Given the description of an element on the screen output the (x, y) to click on. 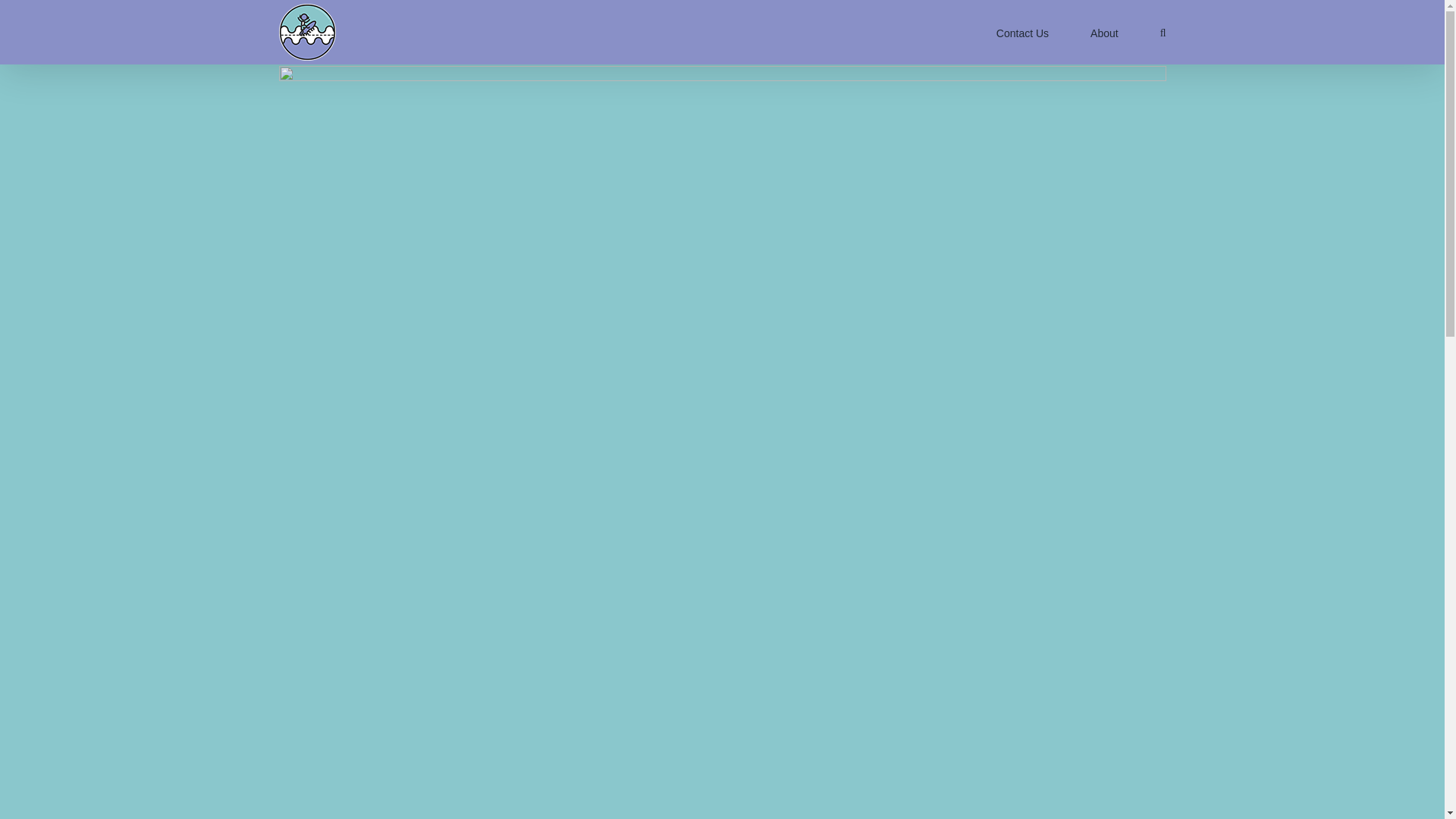
About (1104, 31)
Contact Us (1021, 31)
Search (1163, 31)
